Given the description of an element on the screen output the (x, y) to click on. 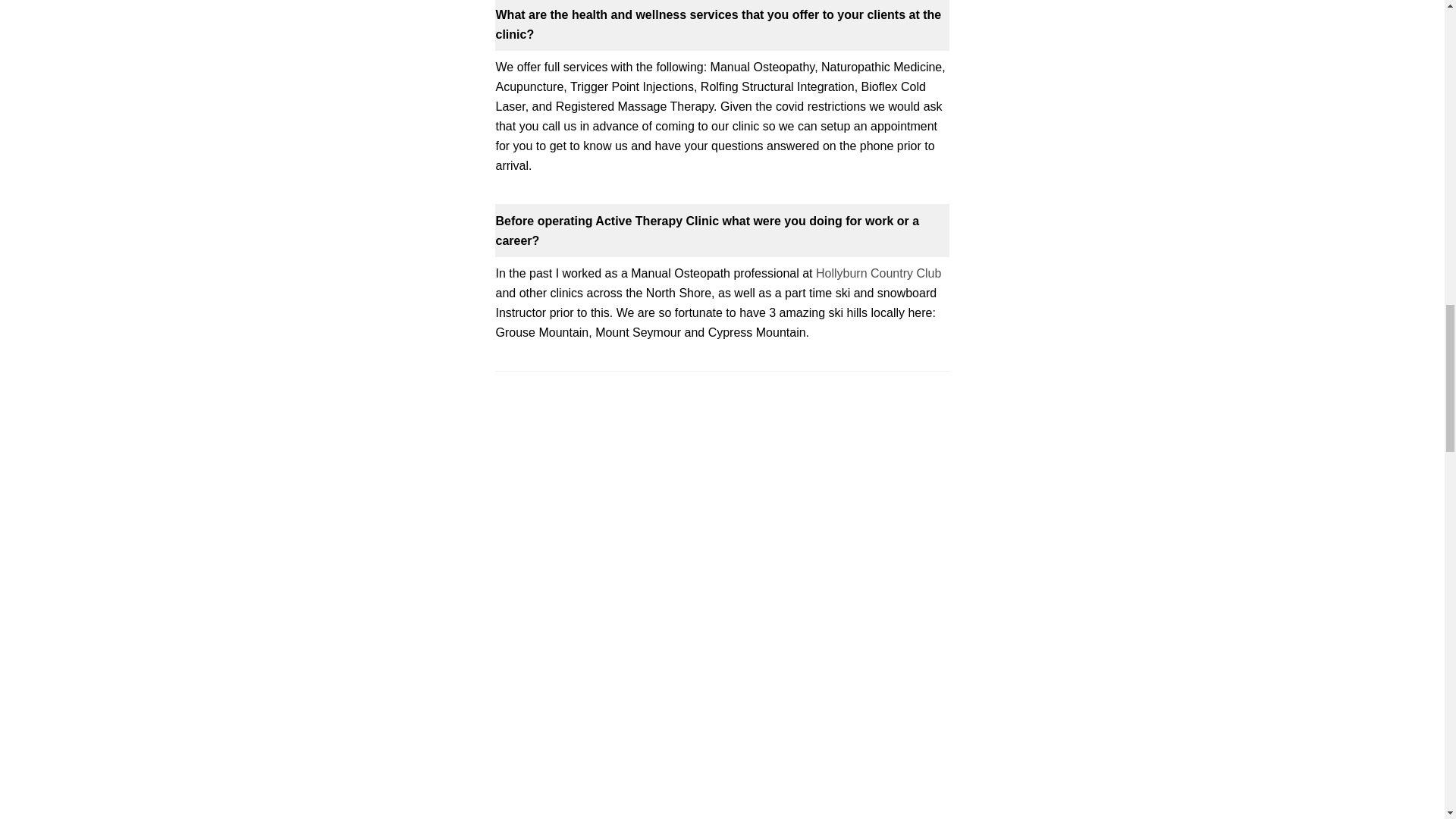
Hollyburn Country Club (877, 273)
